Given the description of an element on the screen output the (x, y) to click on. 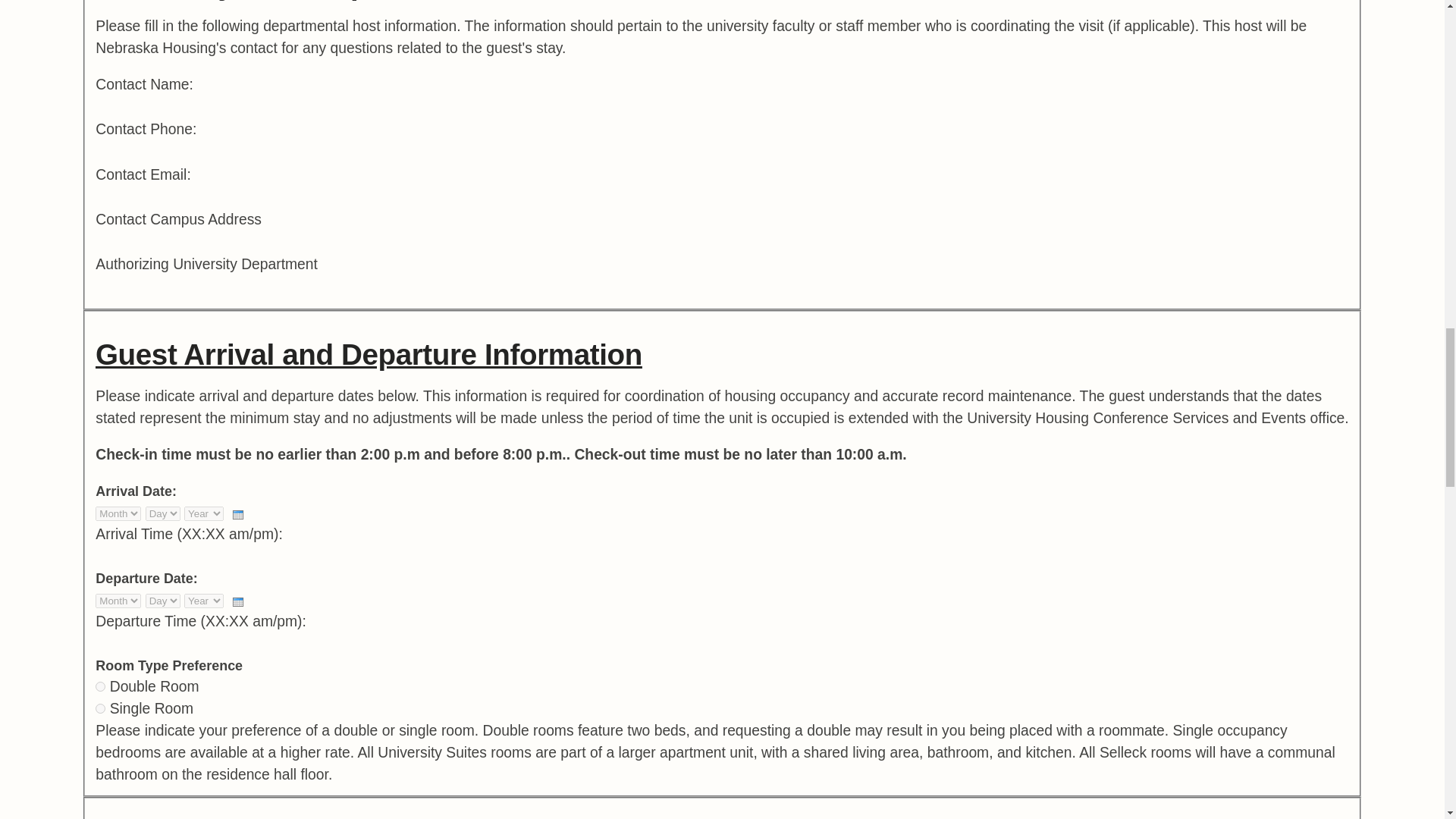
Open popup calendar (237, 601)
Open popup calendar (237, 514)
